Given the description of an element on the screen output the (x, y) to click on. 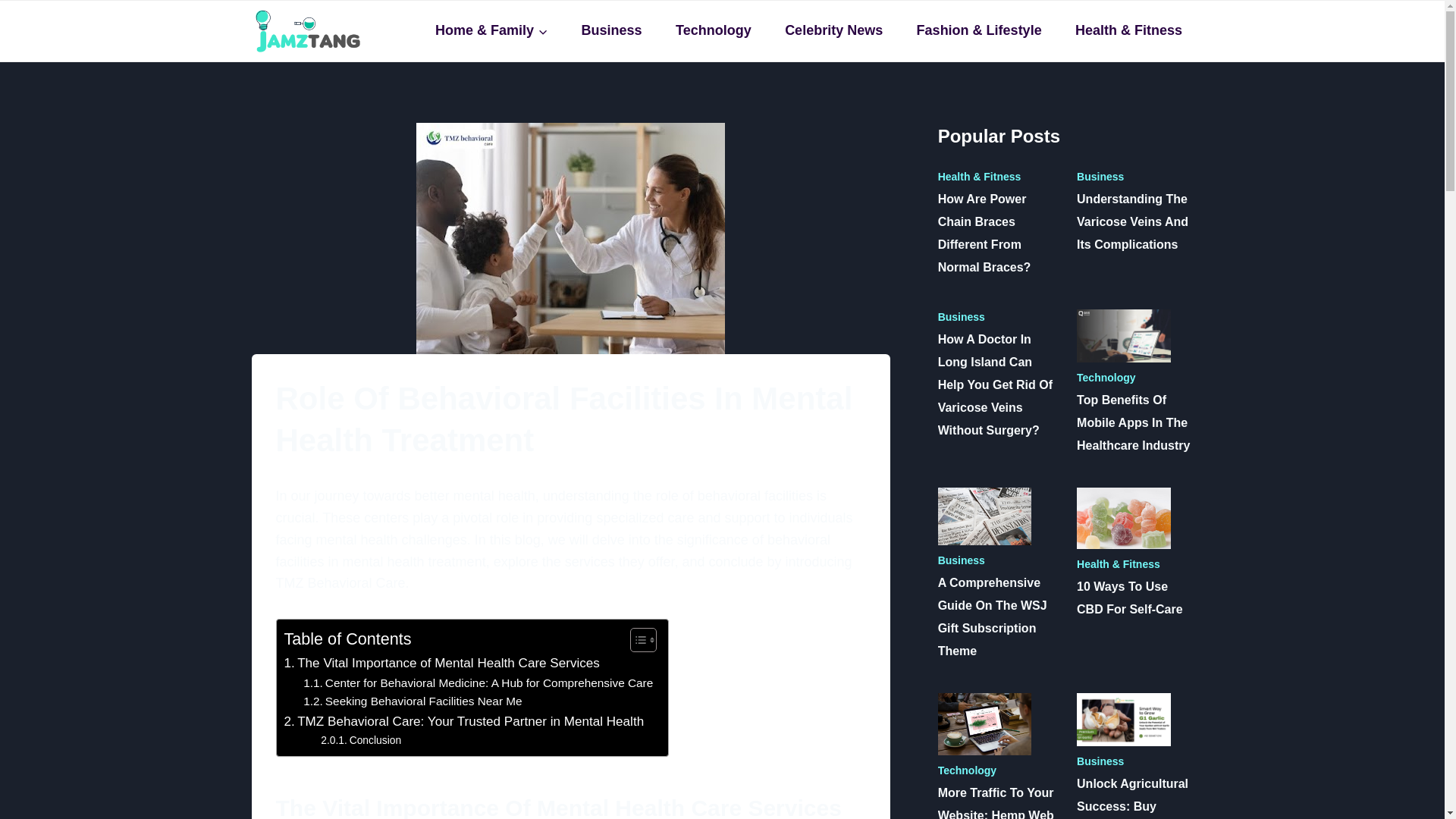
Center for Behavioral Medicine: A Hub for Comprehensive Care (477, 683)
Technology (713, 30)
Seeking Behavioral Facilities Near Me (412, 701)
Seeking Behavioral Facilities Near Me (412, 701)
Conclusion (360, 740)
Role Of Behavioral Facilities In Mental Health Treatment (570, 237)
The Vital Importance of Mental Health Care Services (440, 662)
Center for Behavioral Medicine: A Hub for Comprehensive Care (477, 683)
Celebrity News (833, 30)
TMZ Behavioral Care: Your Trusted Partner in Mental Health (463, 721)
Business (611, 30)
The Vital Importance of Mental Health Care Services (440, 662)
TMZ Behavioral Care: Your Trusted Partner in Mental Health (463, 721)
Conclusion (360, 740)
